Given the description of an element on the screen output the (x, y) to click on. 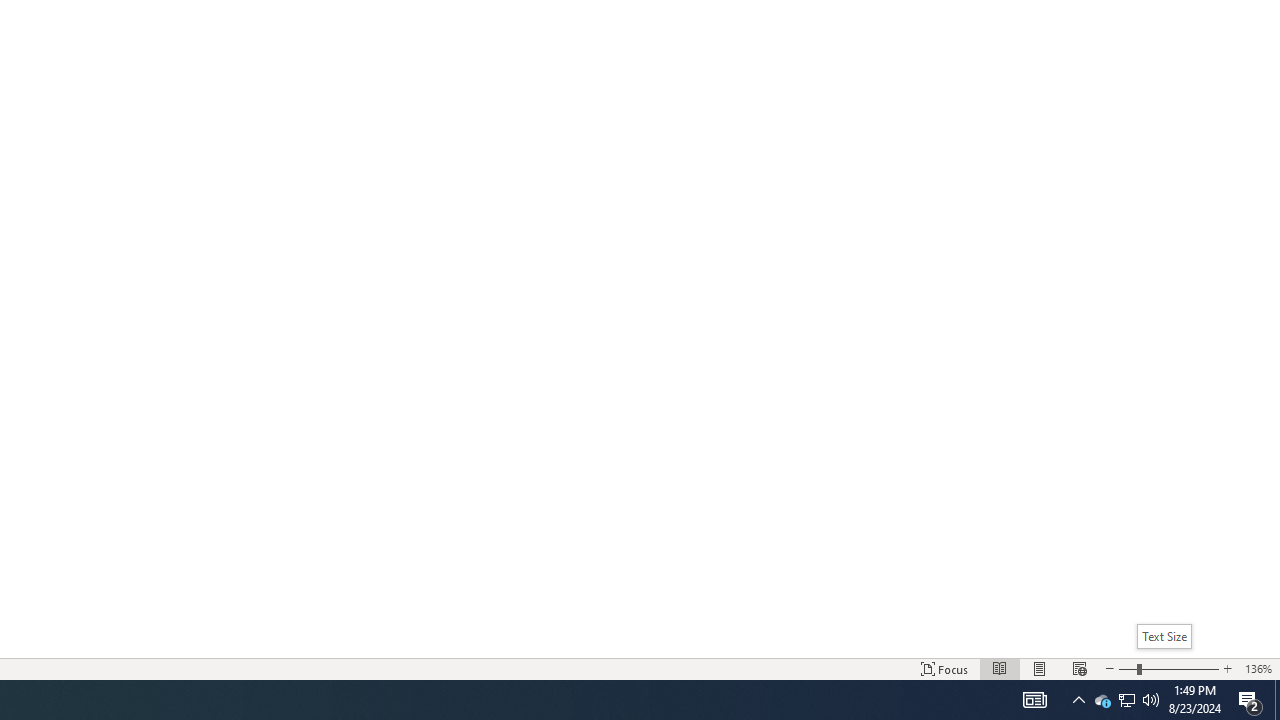
Text Size (1168, 668)
Zoom In (1179, 668)
Print Layout (1039, 668)
Increase Text Size (1227, 668)
Decrease Text Size (1109, 668)
Read Mode (1000, 668)
Zoom Out (1127, 668)
Web Layout (1079, 668)
Focus  (944, 668)
Text Size (1163, 636)
